Given the description of an element on the screen output the (x, y) to click on. 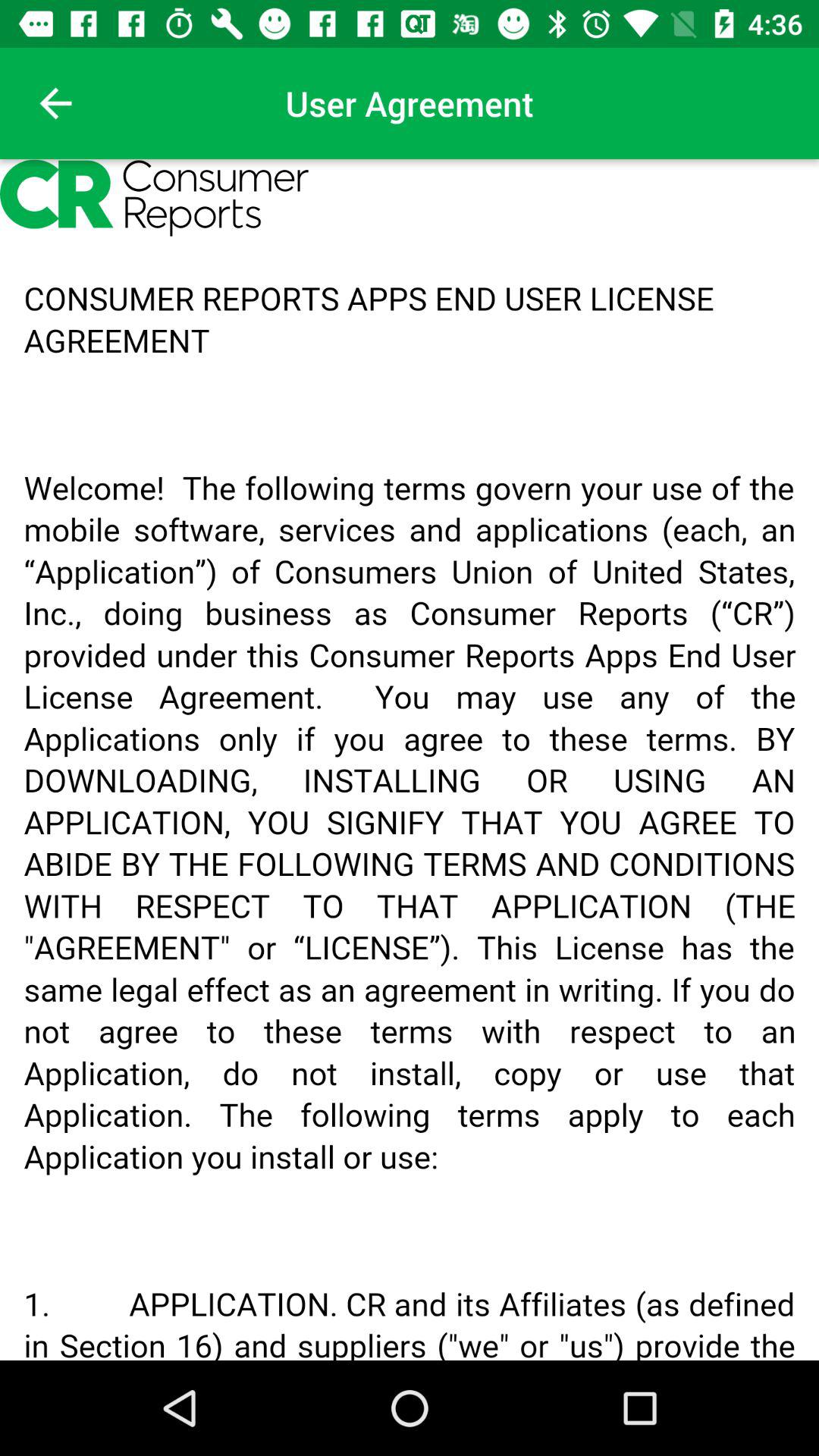
front page (55, 103)
